Given the description of an element on the screen output the (x, y) to click on. 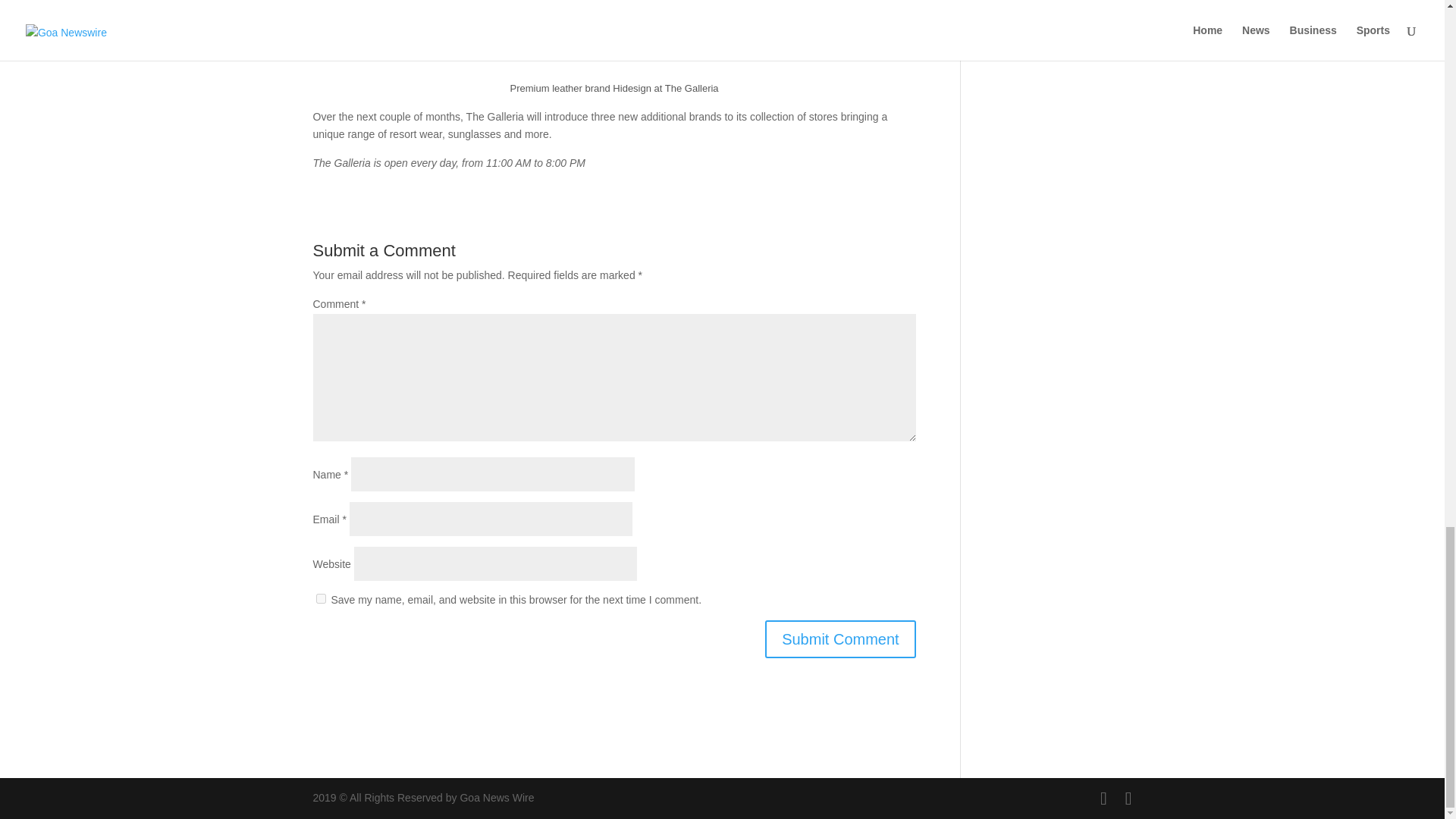
yes (319, 598)
Submit Comment (840, 638)
Submit Comment (840, 638)
